Given the description of an element on the screen output the (x, y) to click on. 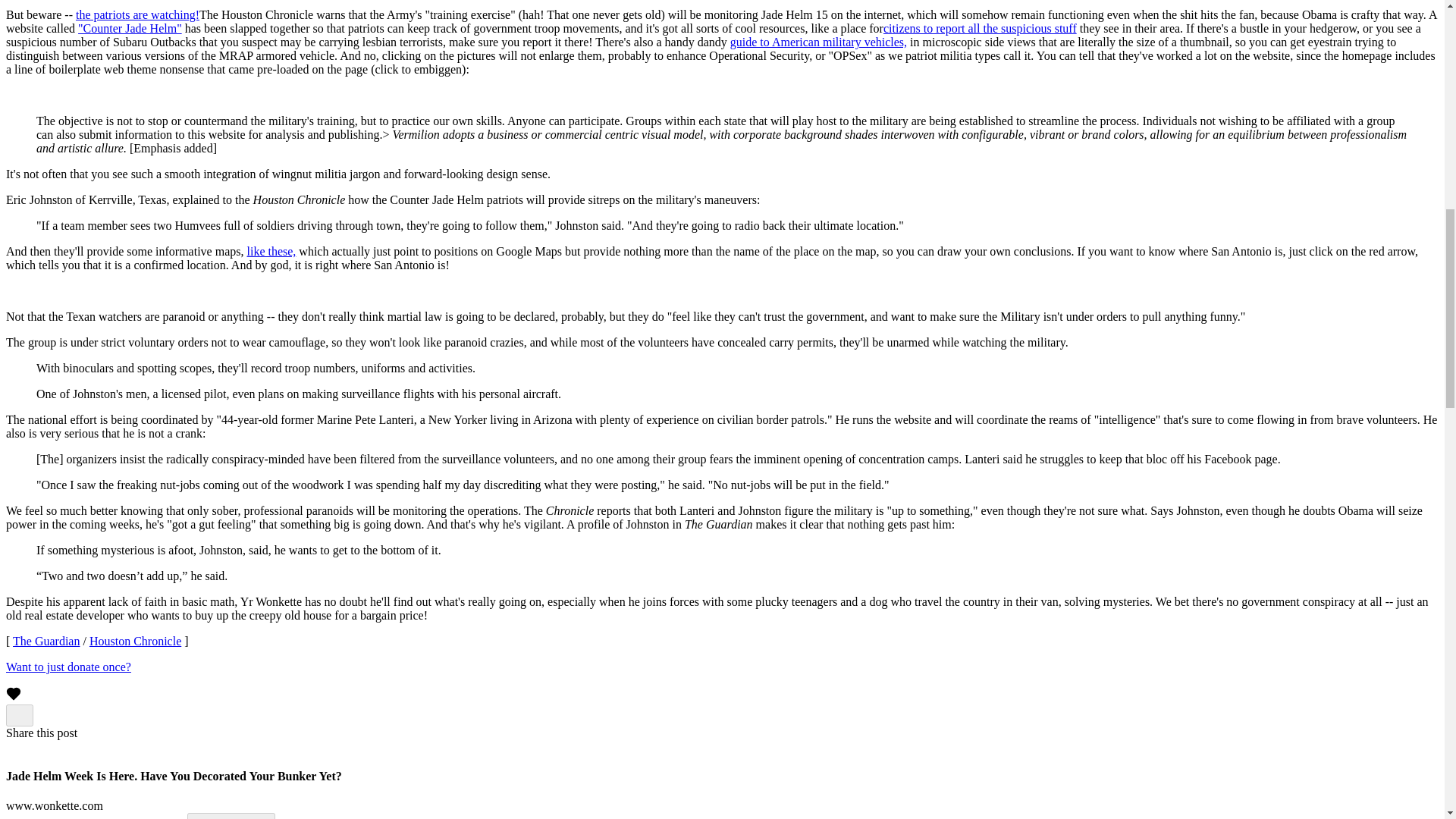
citizens to report all the suspicious stuff (980, 28)
the patriots are watching! (137, 14)
guide to American military vehicles, (818, 42)
The Guardian (46, 640)
like these, (270, 250)
"Counter Jade Helm" (130, 28)
